Given the description of an element on the screen output the (x, y) to click on. 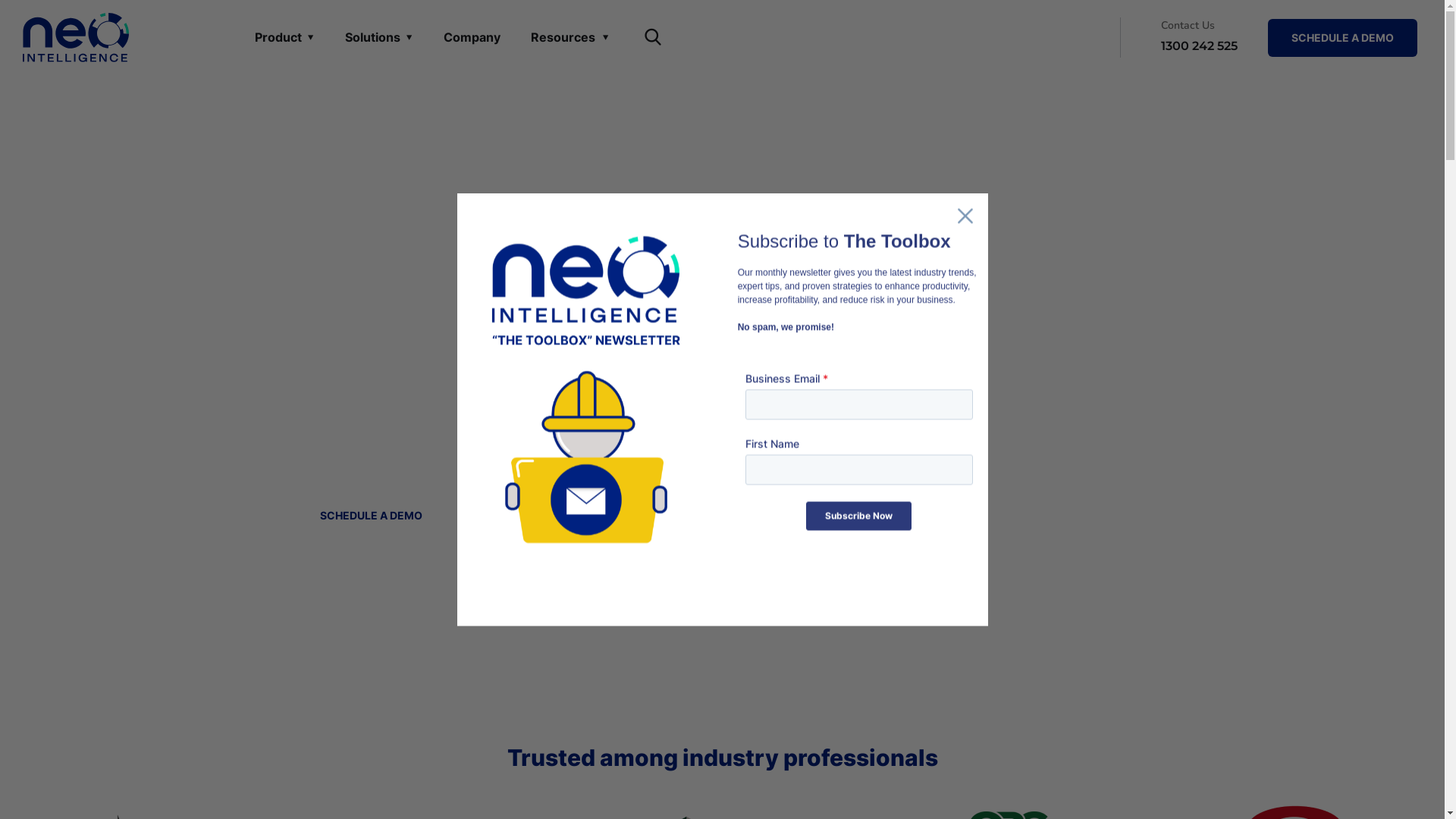
Company Element type: text (471, 37)
SCHEDULE A DEMO Element type: text (370, 515)
Resources Element type: text (569, 37)
Product Element type: text (284, 37)
Solutions Element type: text (379, 37)
SCHEDULE A DEMO Element type: text (1342, 37)
